Given the description of an element on the screen output the (x, y) to click on. 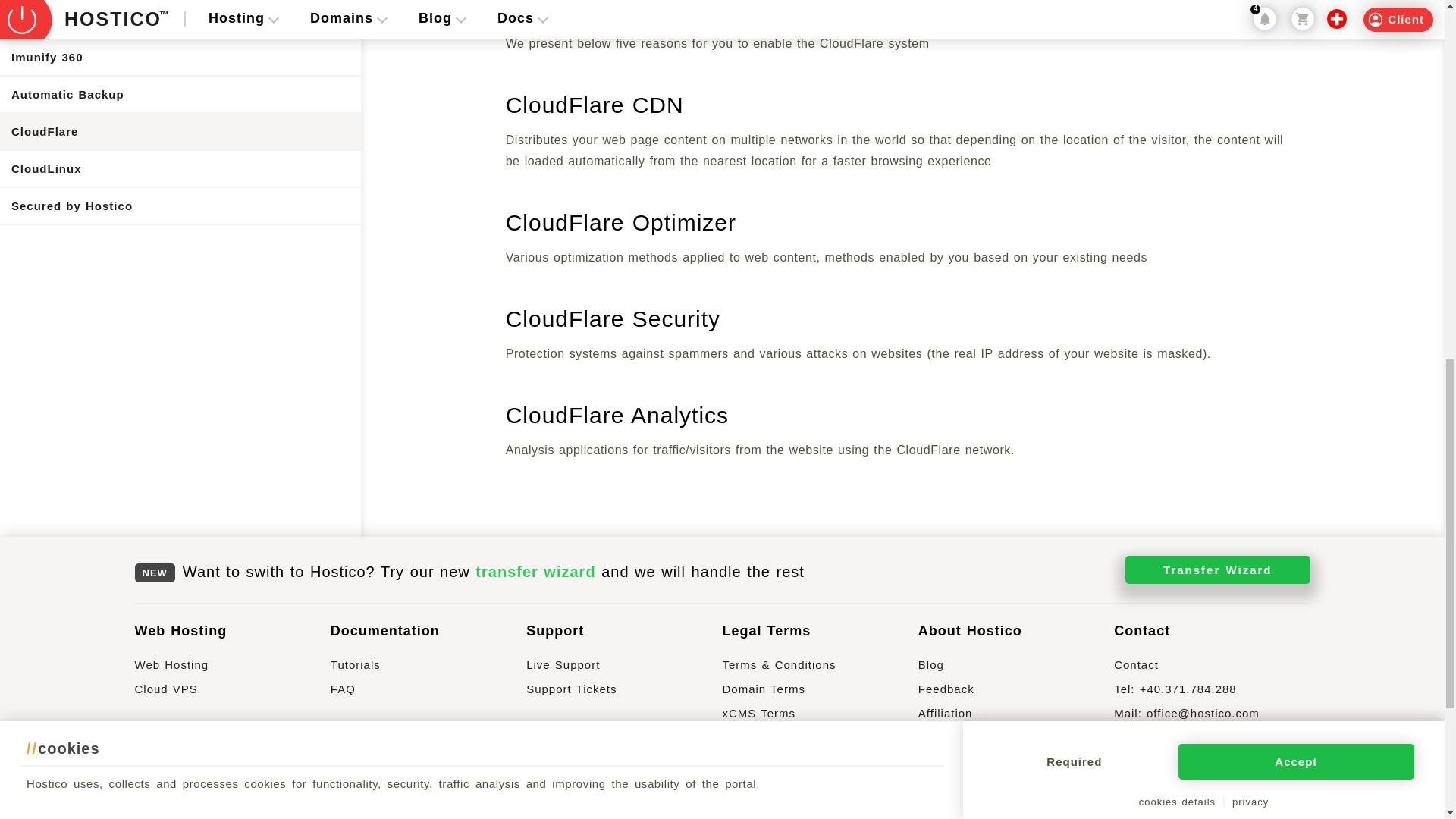
Domain Transfer (232, 796)
Whois Queries (232, 814)
xCMS Hosting (427, 772)
FAQ (427, 694)
Web Hosting (232, 670)
Domain Registration (232, 772)
Cloud VPS (232, 694)
Tutorials (427, 670)
